Given the description of an element on the screen output the (x, y) to click on. 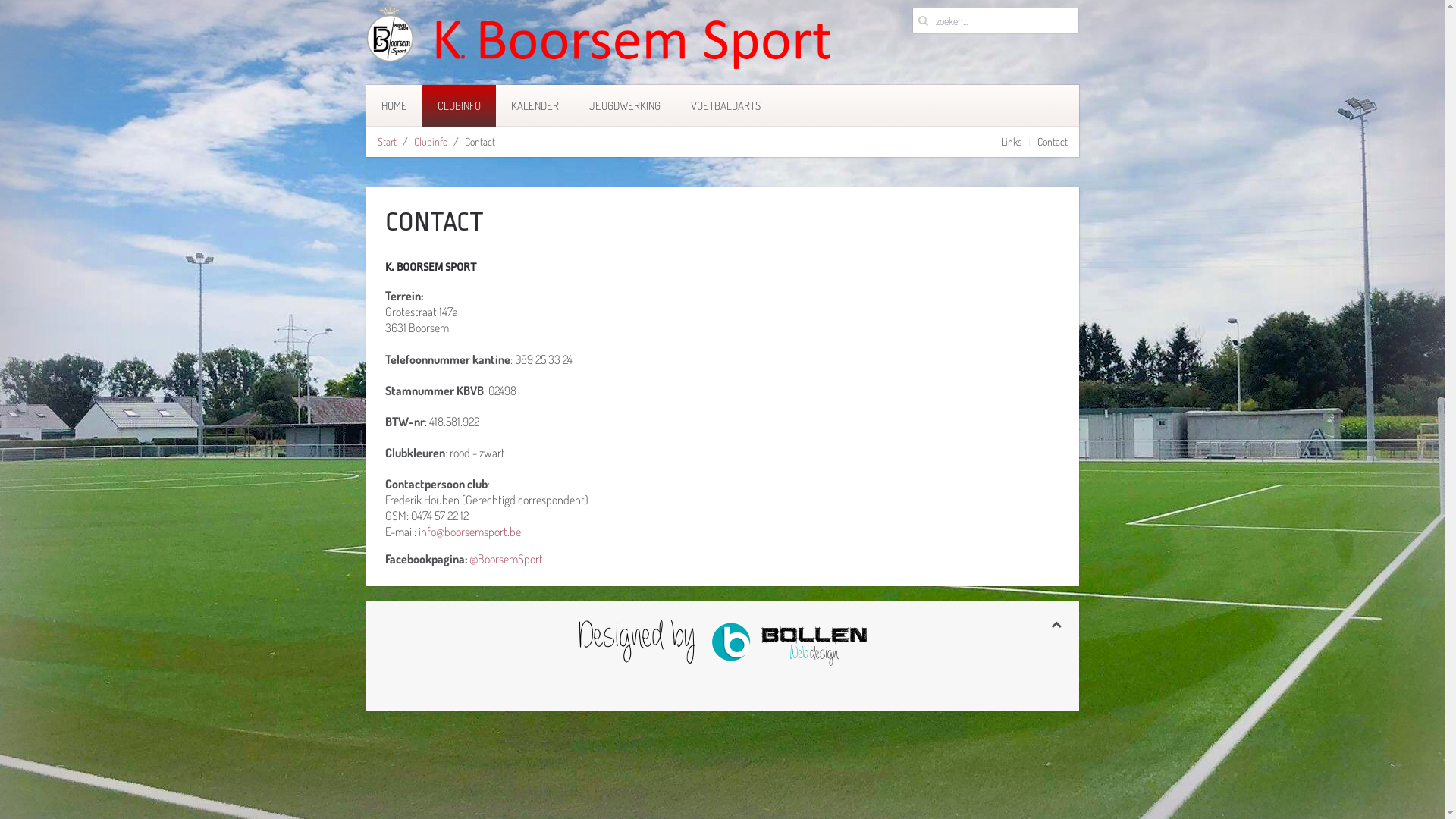
Start Element type: text (386, 141)
VOETBALDARTS Element type: text (724, 105)
Clubinfo Element type: text (430, 141)
Links Element type: text (1011, 141)
info@boorsemsport.be Element type: text (469, 531)
CLUBINFO Element type: text (458, 105)
HOME Element type: text (393, 105)
JEUGDWERKING Element type: text (623, 105)
KALENDER Element type: text (534, 105)
@BoorsemSport Element type: text (505, 558)
Contact Element type: text (1052, 141)
